Given the description of an element on the screen output the (x, y) to click on. 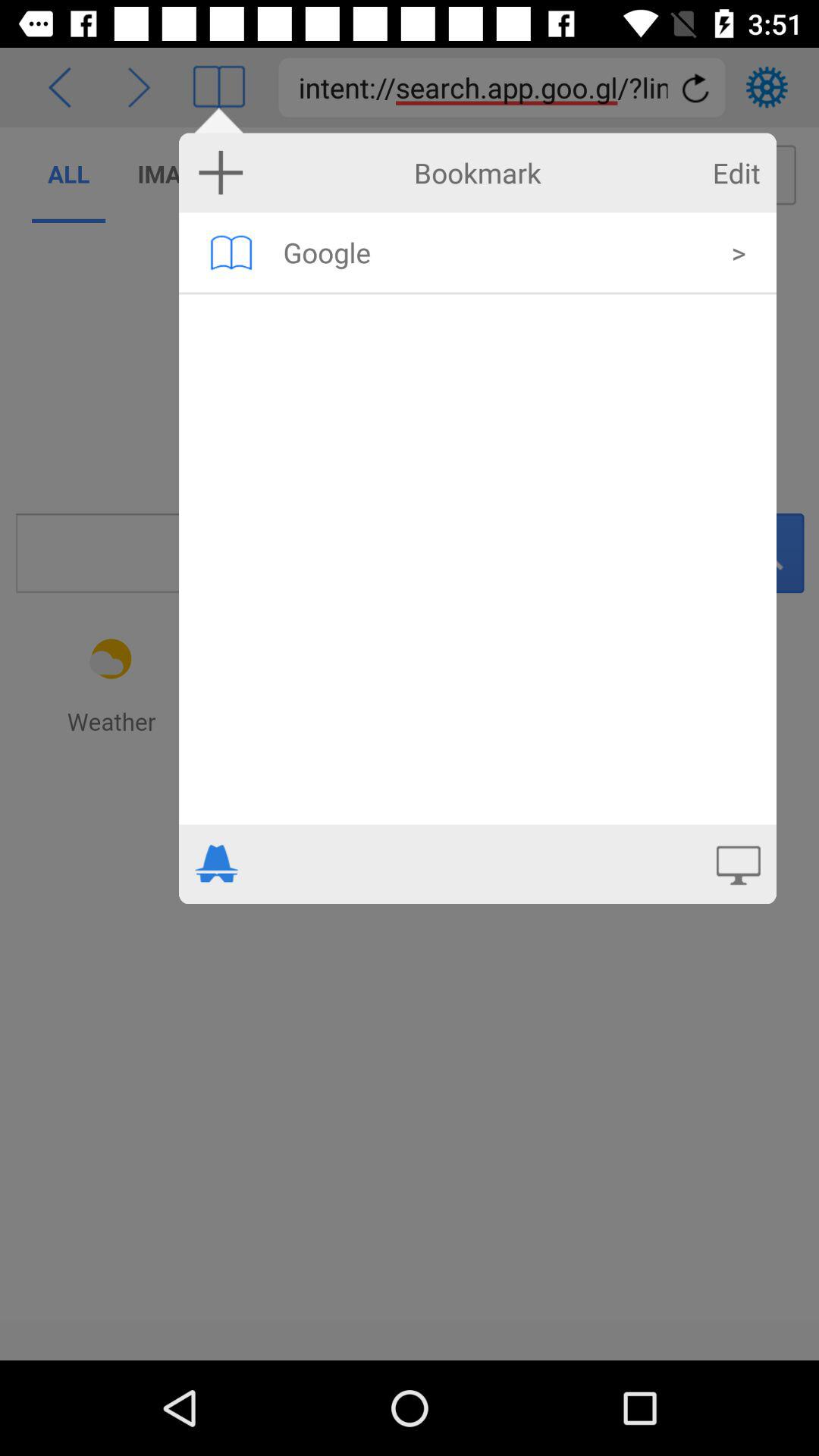
click item to the left of > icon (497, 252)
